Given the description of an element on the screen output the (x, y) to click on. 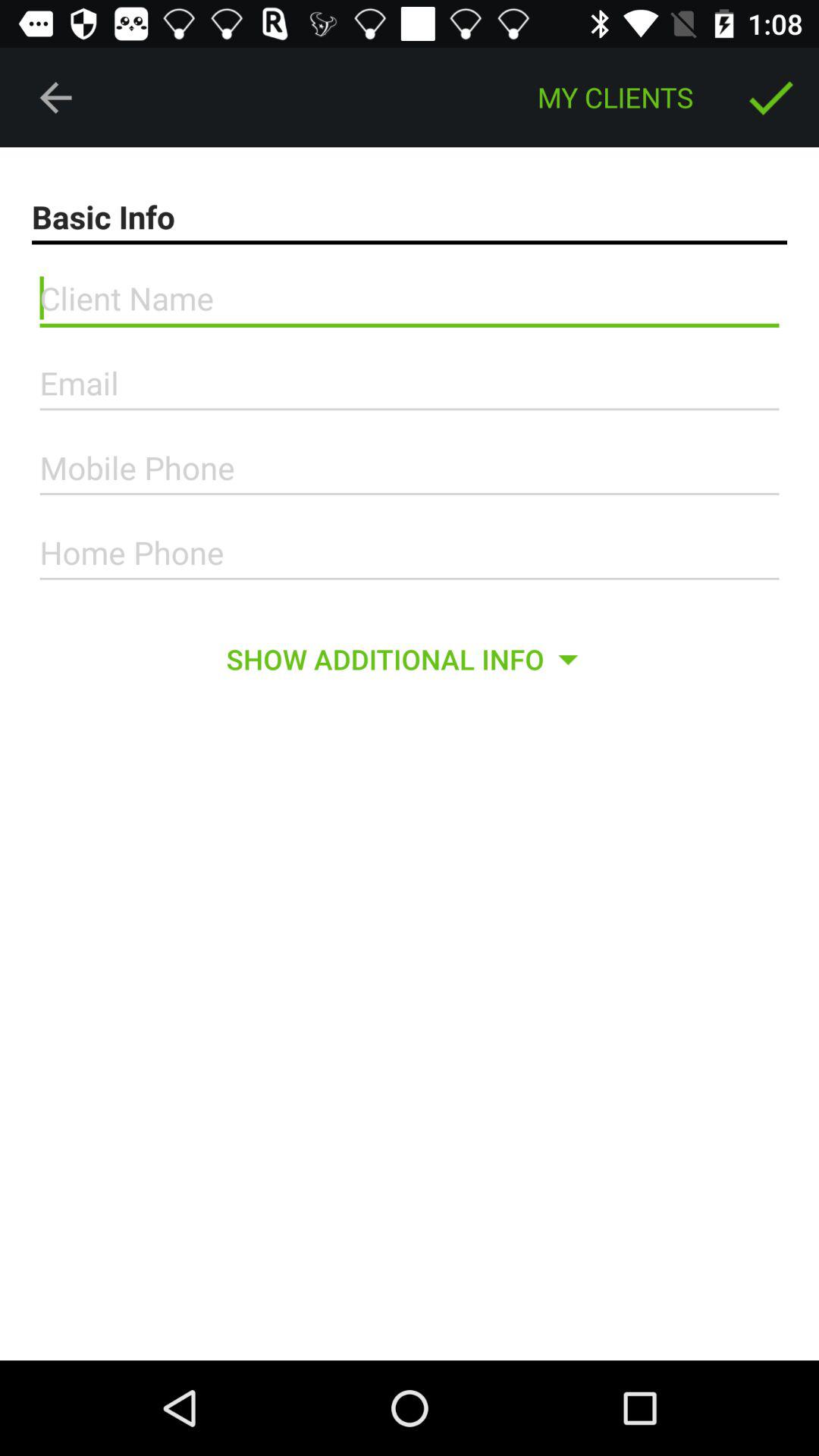
turn off the icon at the top left corner (55, 97)
